Given the description of an element on the screen output the (x, y) to click on. 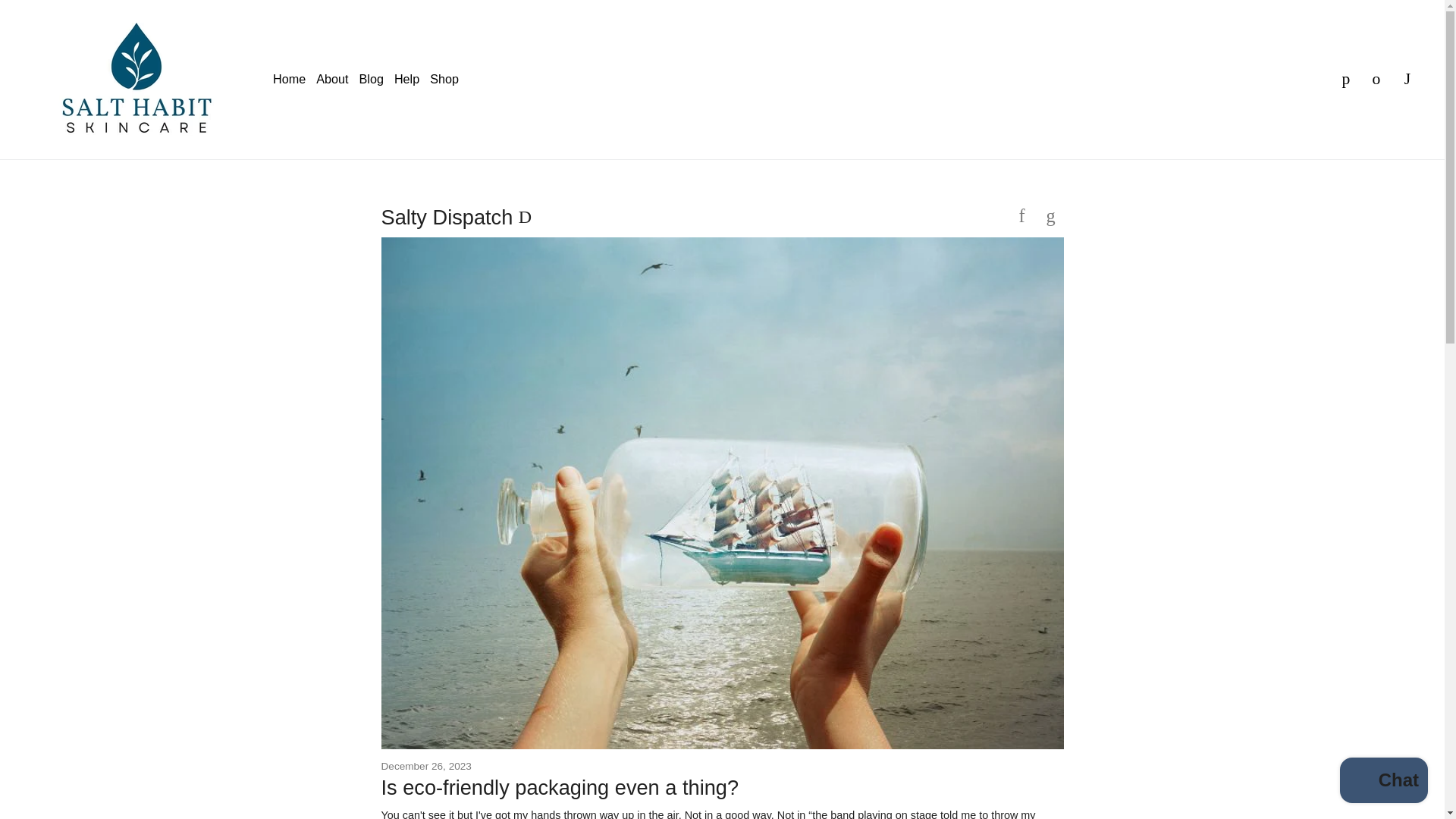
Shop (443, 79)
Shopify online store chat (1383, 781)
About (331, 79)
Home (289, 79)
Blog (371, 79)
Salty Dispatch (449, 217)
Help (406, 79)
Is eco-friendly packaging even a thing? (559, 787)
